Given the description of an element on the screen output the (x, y) to click on. 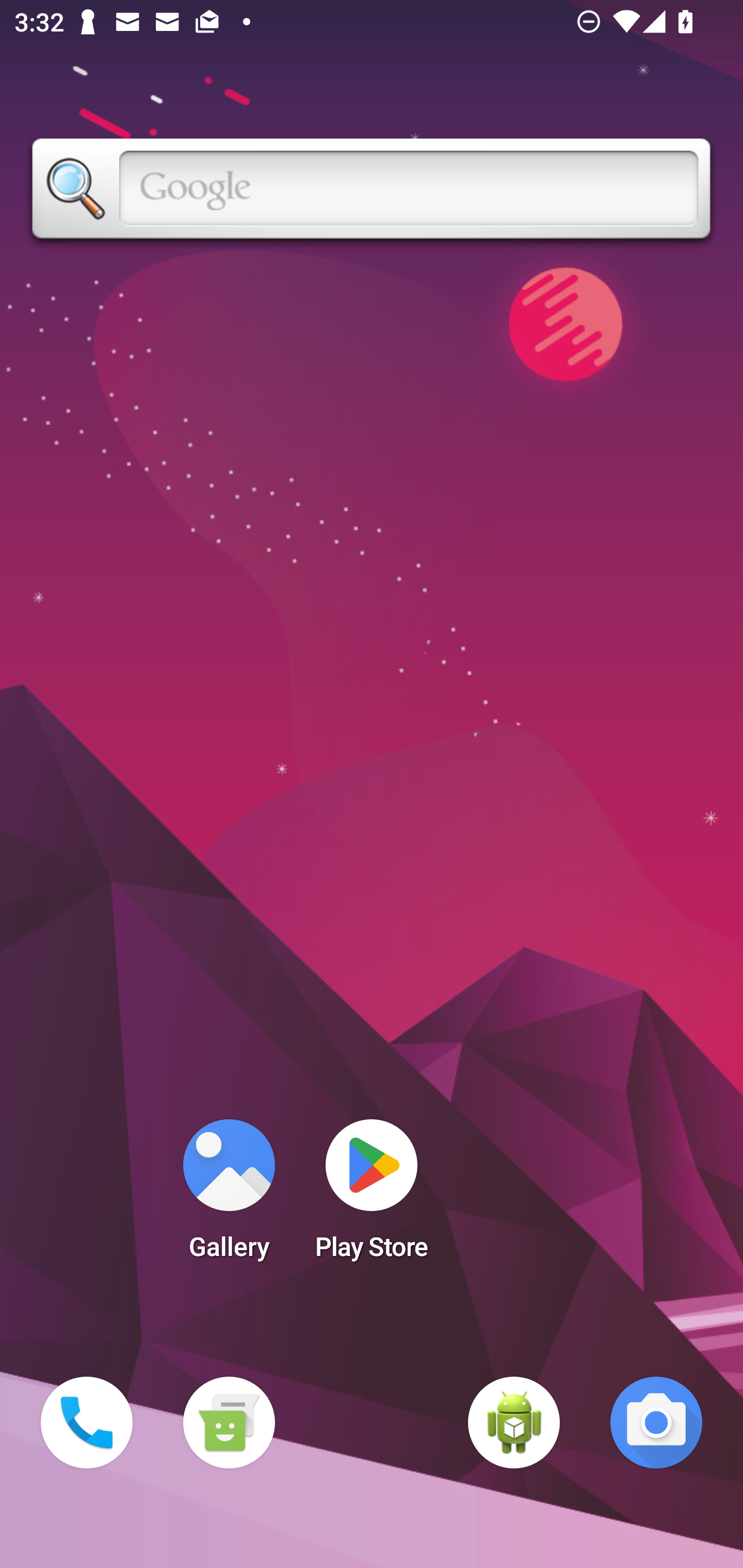
Gallery (228, 1195)
Play Store (371, 1195)
Phone (86, 1422)
Messaging (228, 1422)
WebView Browser Tester (513, 1422)
Camera (656, 1422)
